Given the description of an element on the screen output the (x, y) to click on. 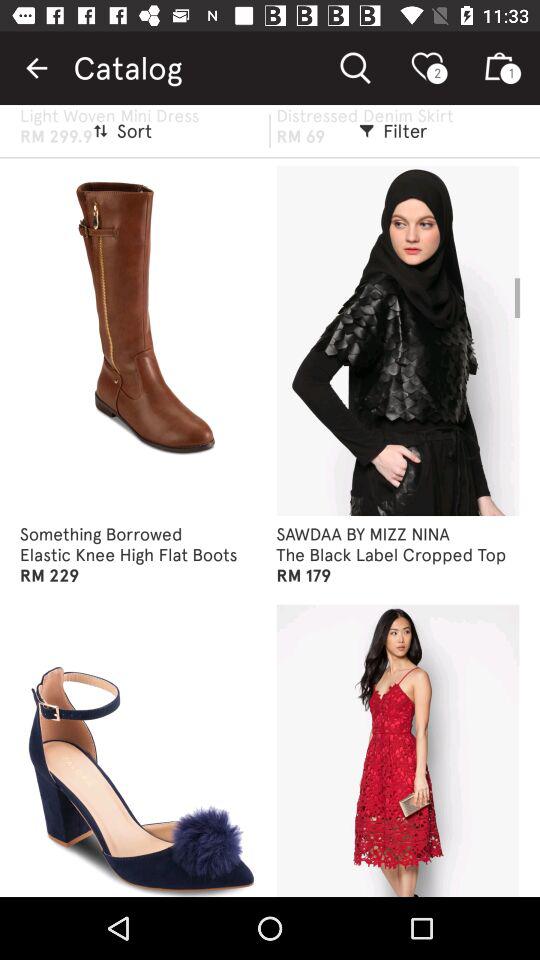
turn on the item above esprit (36, 68)
